Given the description of an element on the screen output the (x, y) to click on. 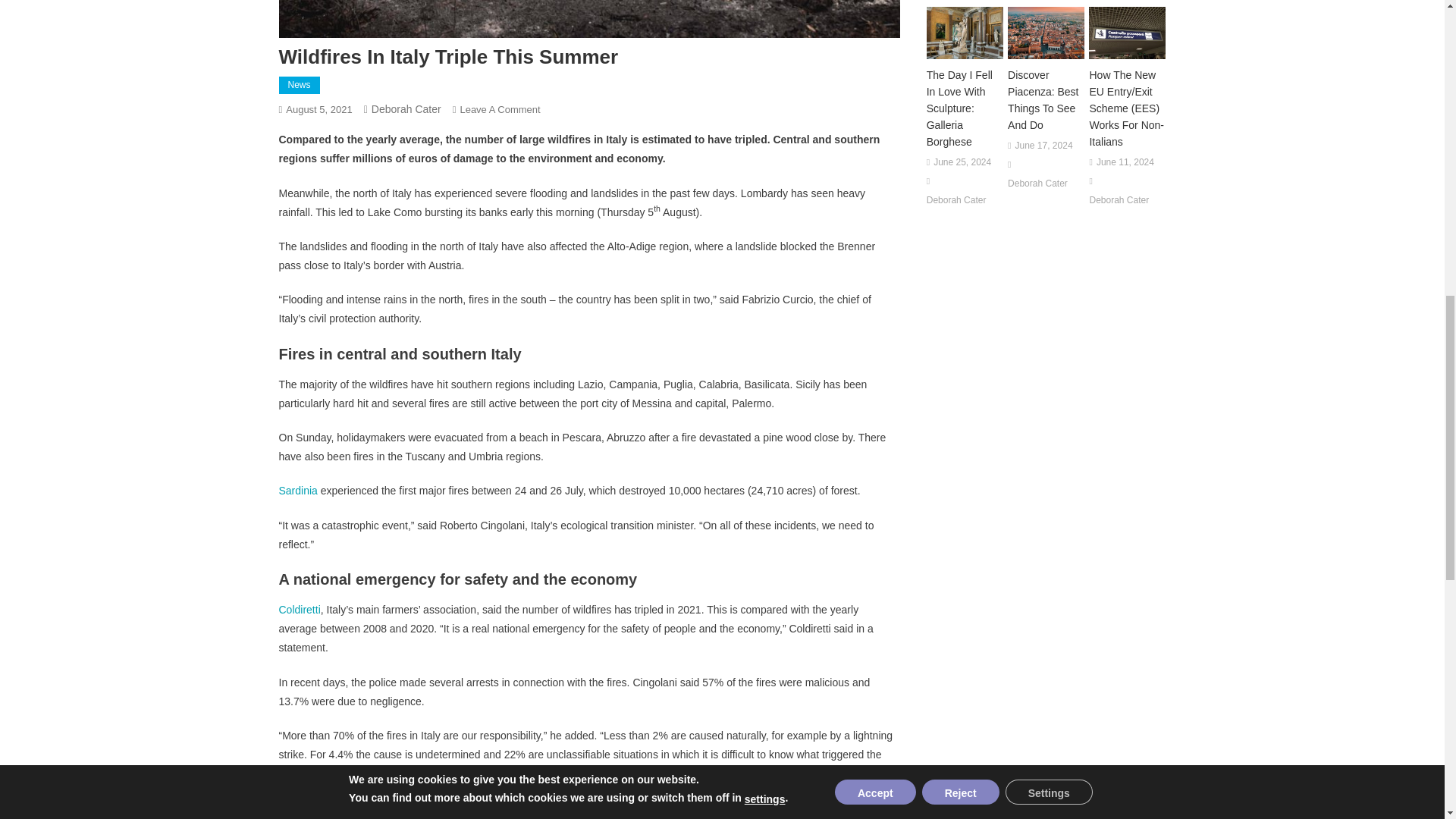
Deborah Cater (406, 109)
August 5, 2021 (318, 109)
News (299, 85)
Coldiretti (299, 609)
Sardinia (299, 490)
Leave A Comment (500, 109)
